Given the description of an element on the screen output the (x, y) to click on. 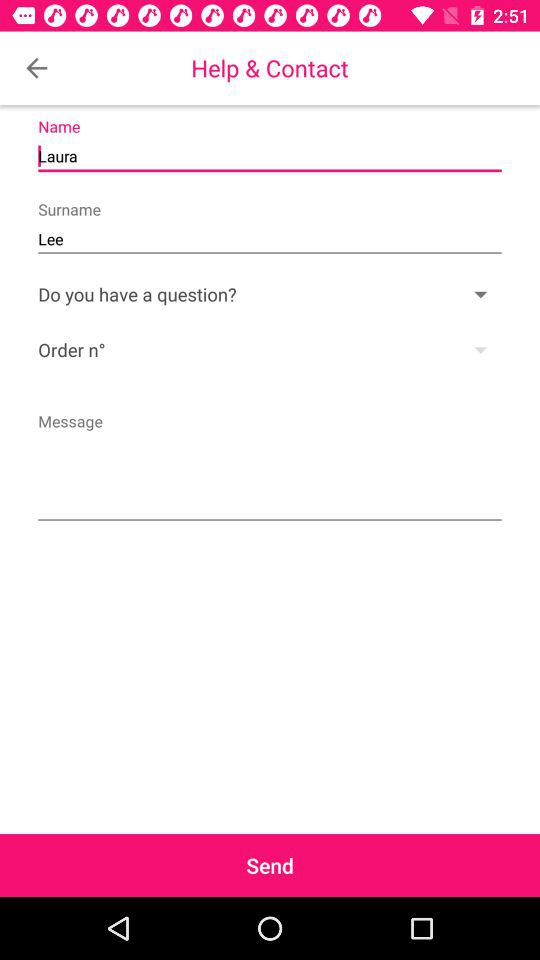
enter the message (270, 465)
